Given the description of an element on the screen output the (x, y) to click on. 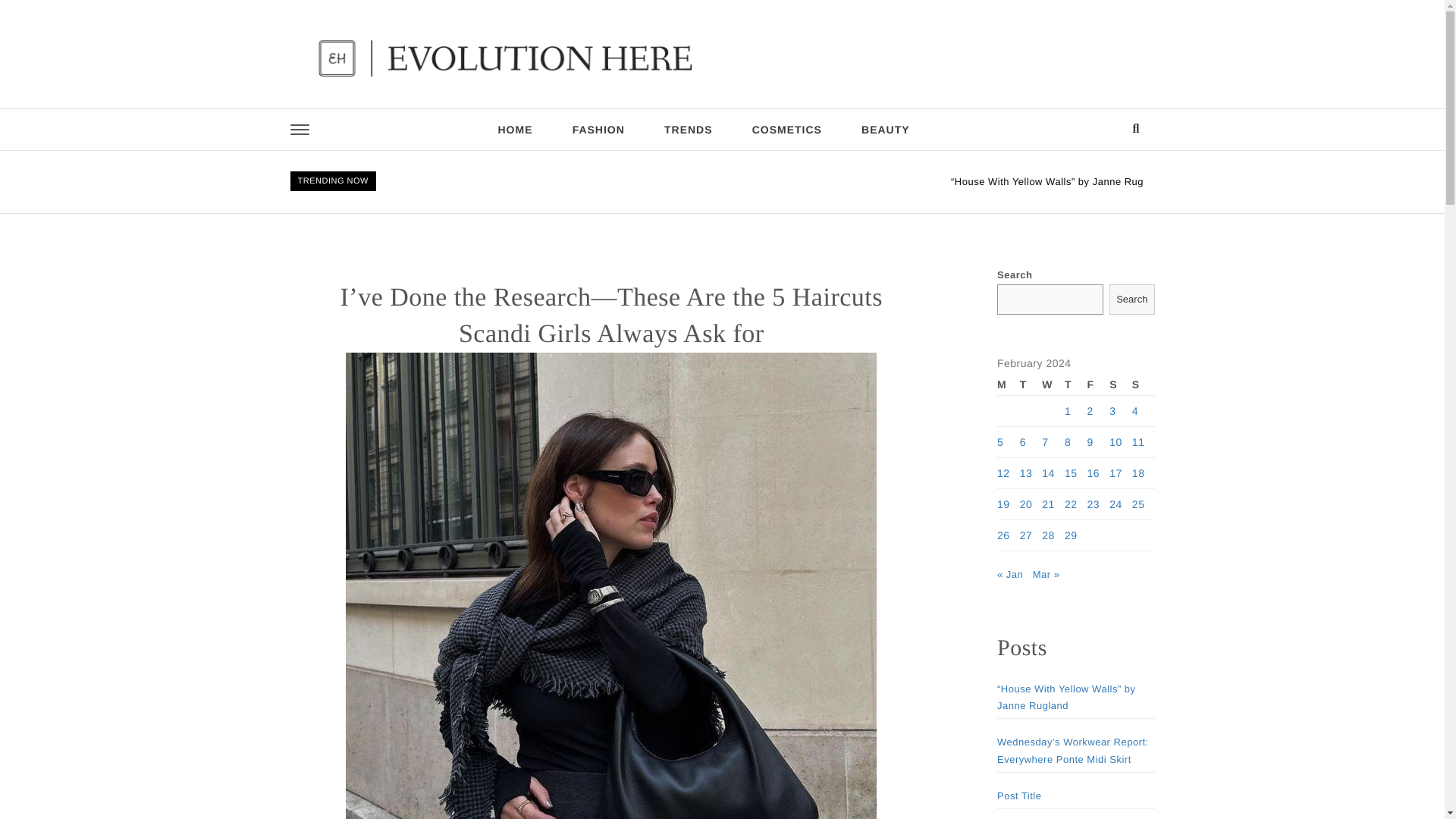
Friday (1098, 384)
Thursday (1075, 384)
Search (1131, 299)
Saturday (1120, 384)
TRENDS (688, 128)
HOME (514, 128)
Monday (1008, 384)
Tuesday (1031, 384)
Wednesday (1053, 384)
FASHION (598, 128)
BEAUTY (885, 128)
